Given the description of an element on the screen output the (x, y) to click on. 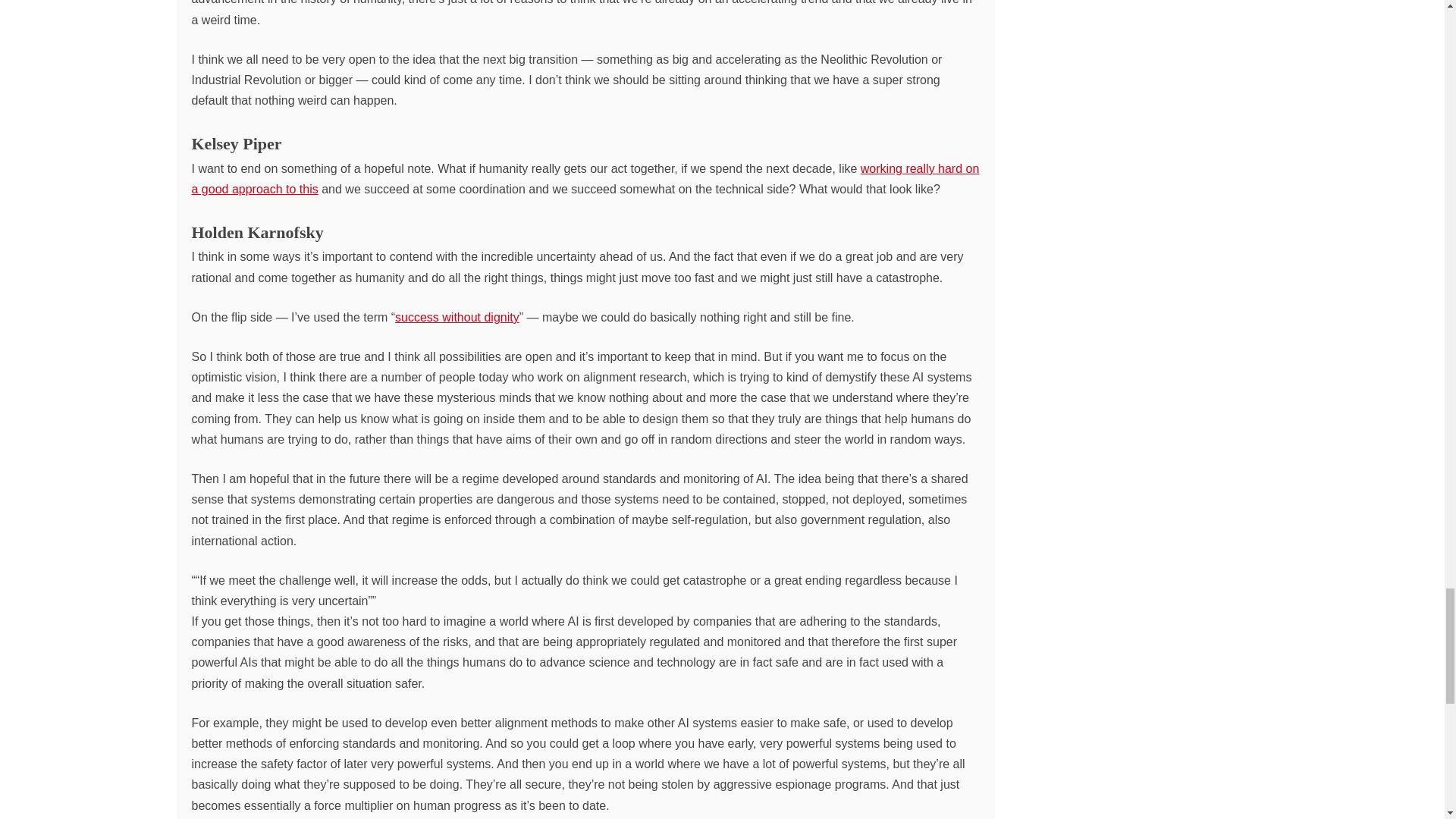
working really hard on a good approach to this (584, 178)
success without dignity (456, 317)
